Given the description of an element on the screen output the (x, y) to click on. 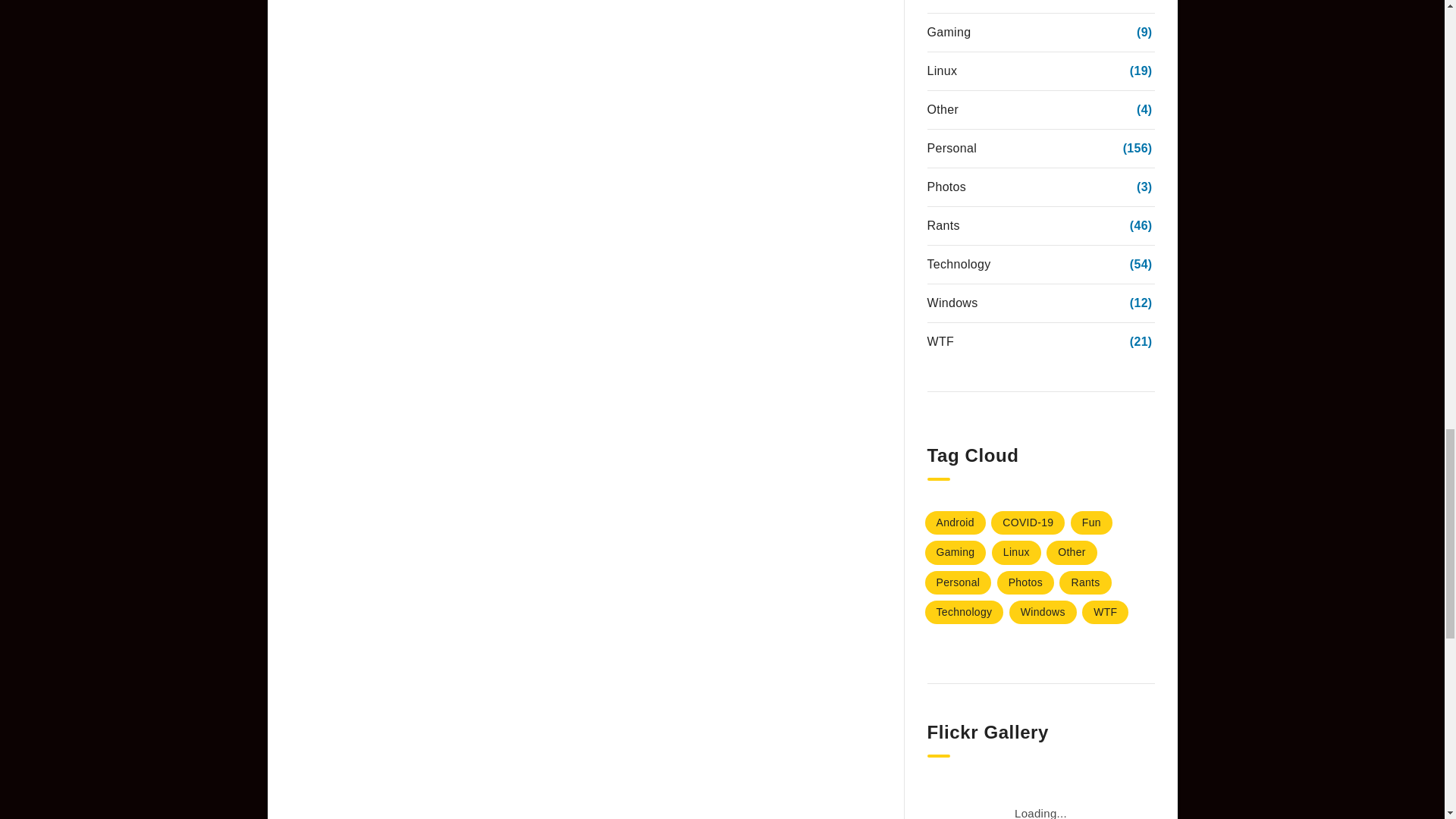
Rants (942, 225)
WTF (1104, 612)
Windows (1043, 612)
Other (1071, 552)
Fun (936, 2)
Other (942, 109)
Windows (951, 302)
Gaming (955, 552)
Personal (951, 148)
Technology (964, 612)
Linux (1016, 552)
Rants (1084, 582)
Gaming (948, 32)
Photos (946, 187)
Photos (1025, 582)
